Given the description of an element on the screen output the (x, y) to click on. 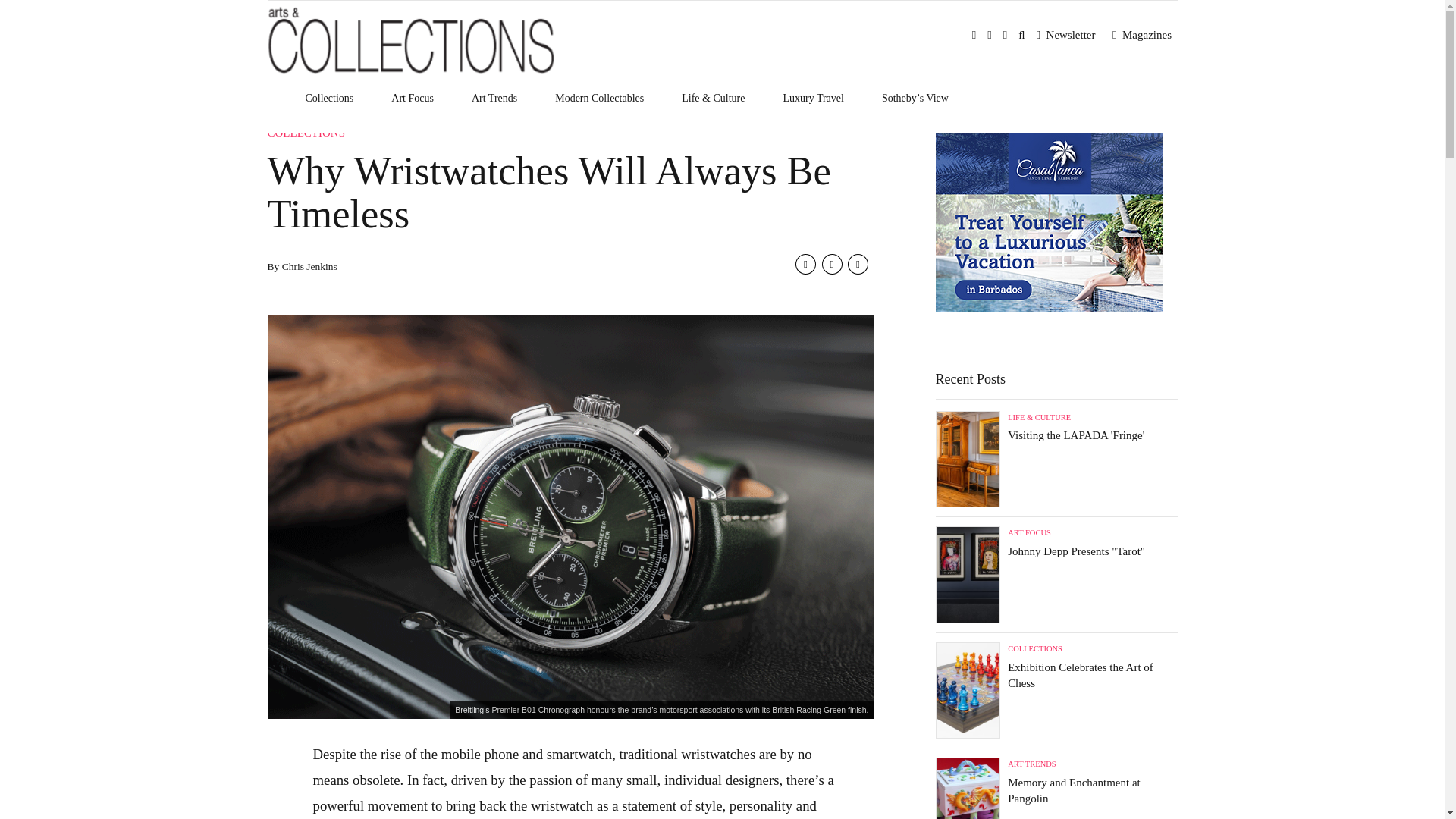
Luxury Travel (813, 98)
Chris Jenkins (309, 266)
COLLECTIONS (305, 132)
Magazines (1144, 34)
Share on Facebook (804, 263)
Newsletter (1068, 34)
Modern Collectables (598, 98)
Share on Twitter (832, 263)
Share on Linkedin (857, 263)
